Given the description of an element on the screen output the (x, y) to click on. 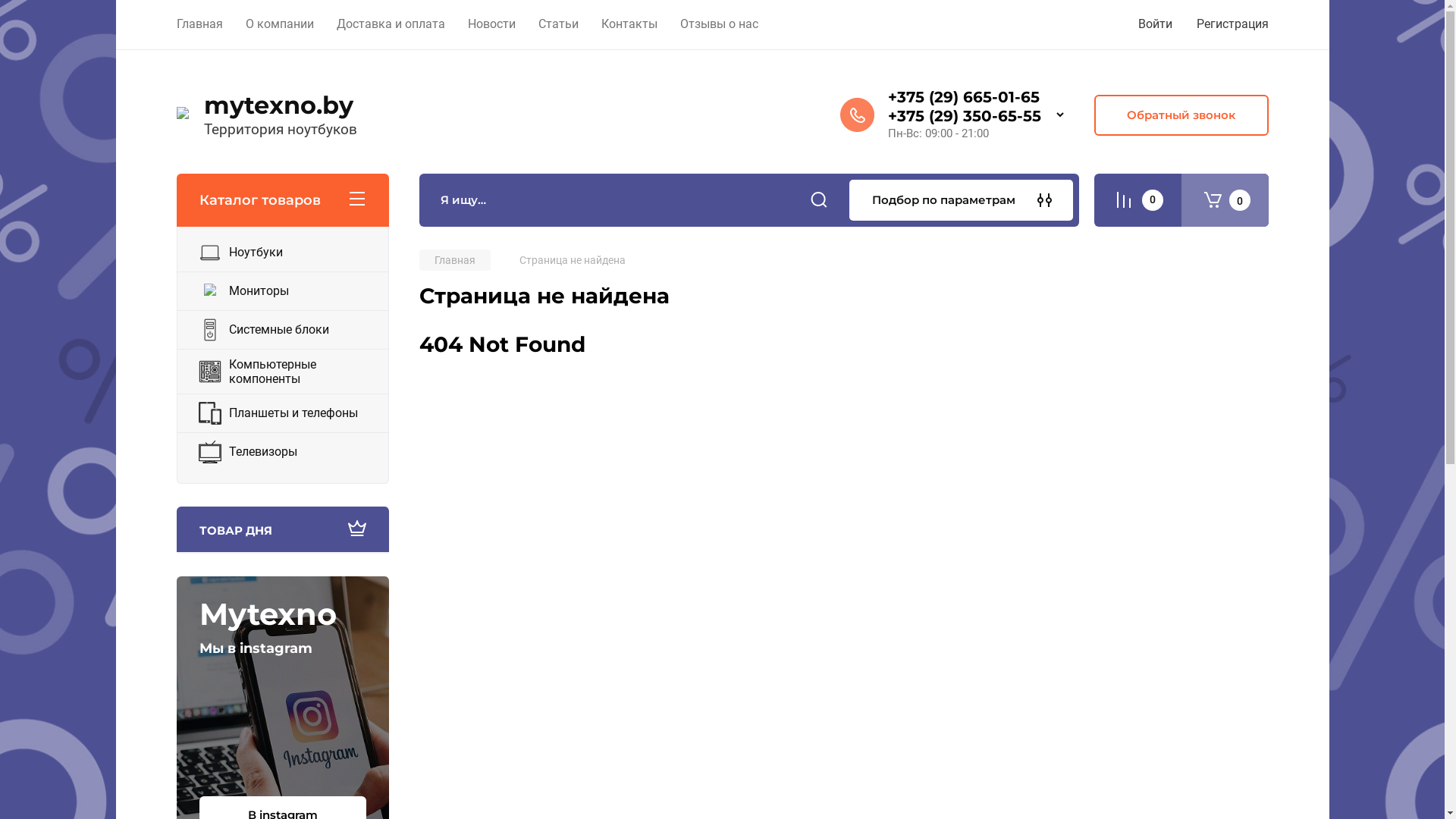
mytexno.by Element type: text (279, 104)
  Element type: text (1136, 199)
+375 (29) 350-65-55 Element type: text (963, 115)
0 Element type: text (1224, 199)
+375 (29) 665-01-65 Element type: text (962, 96)
